Given the description of an element on the screen output the (x, y) to click on. 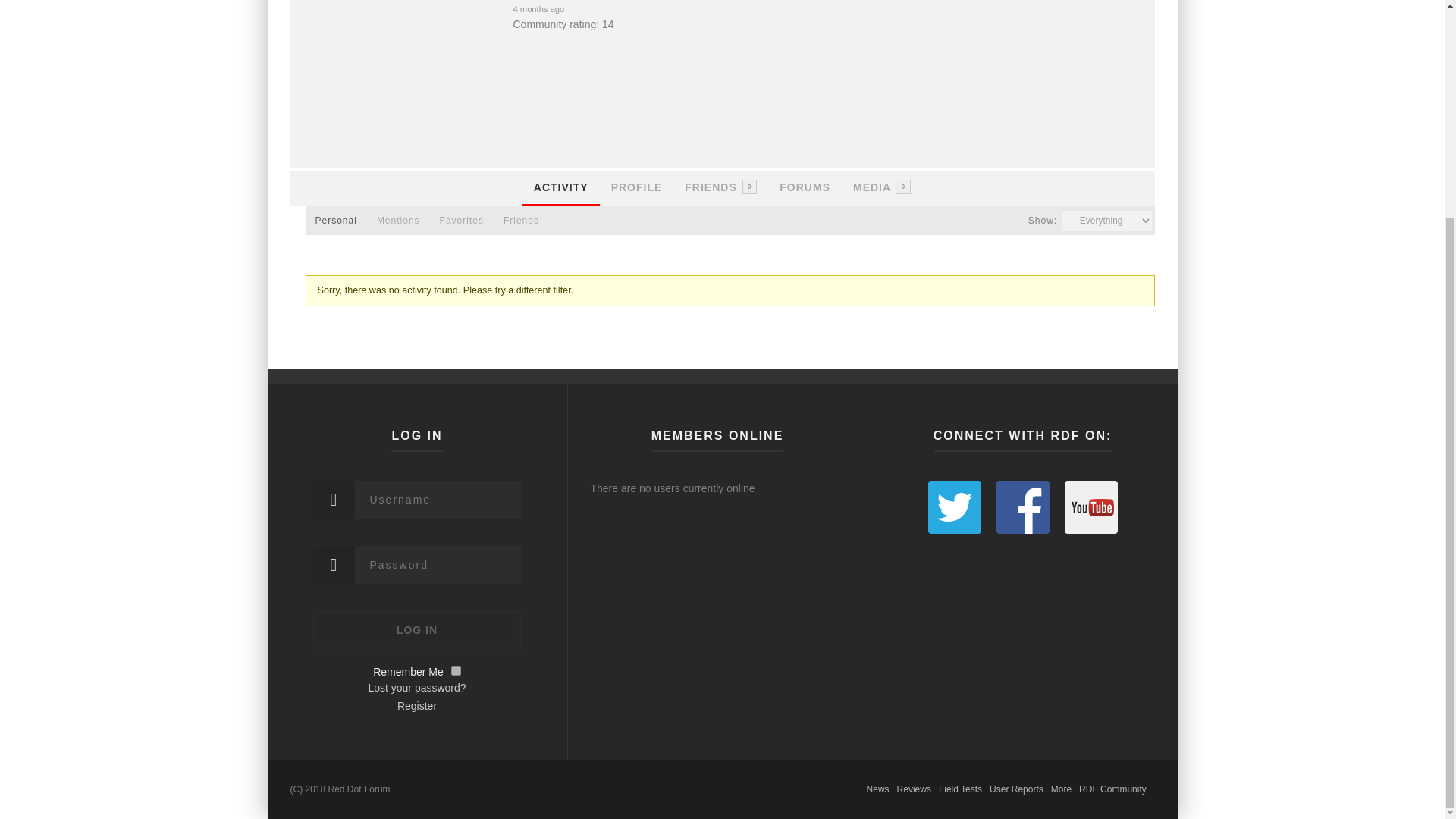
Log In (417, 629)
Log In (721, 171)
Lost your password? (416, 687)
forever (456, 670)
Register (721, 188)
